Given the description of an element on the screen output the (x, y) to click on. 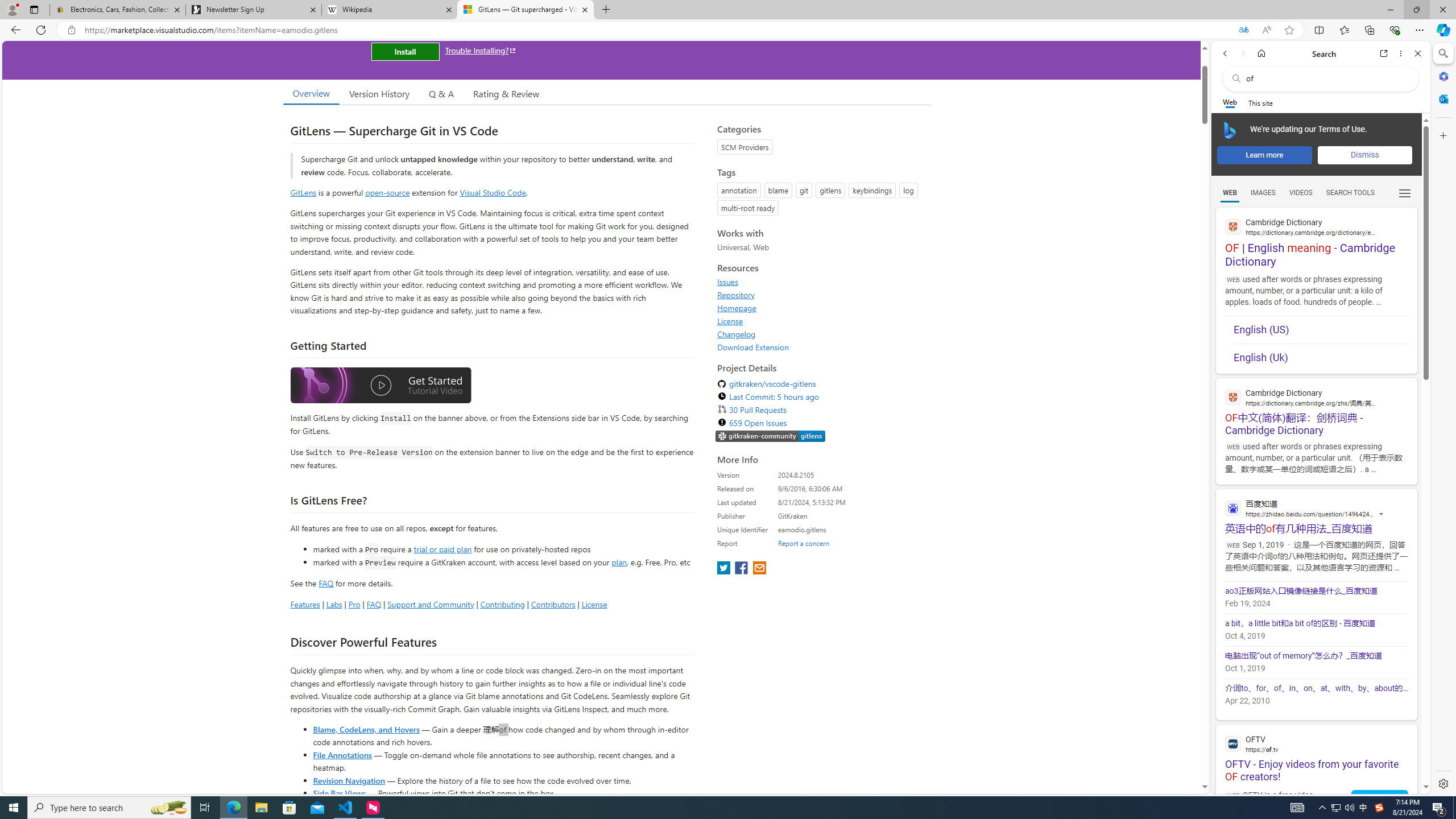
Changelog (736, 333)
English (US) (1320, 329)
Q & A (441, 92)
FAQ (373, 603)
License (729, 320)
Contributing (502, 603)
